Given the description of an element on the screen output the (x, y) to click on. 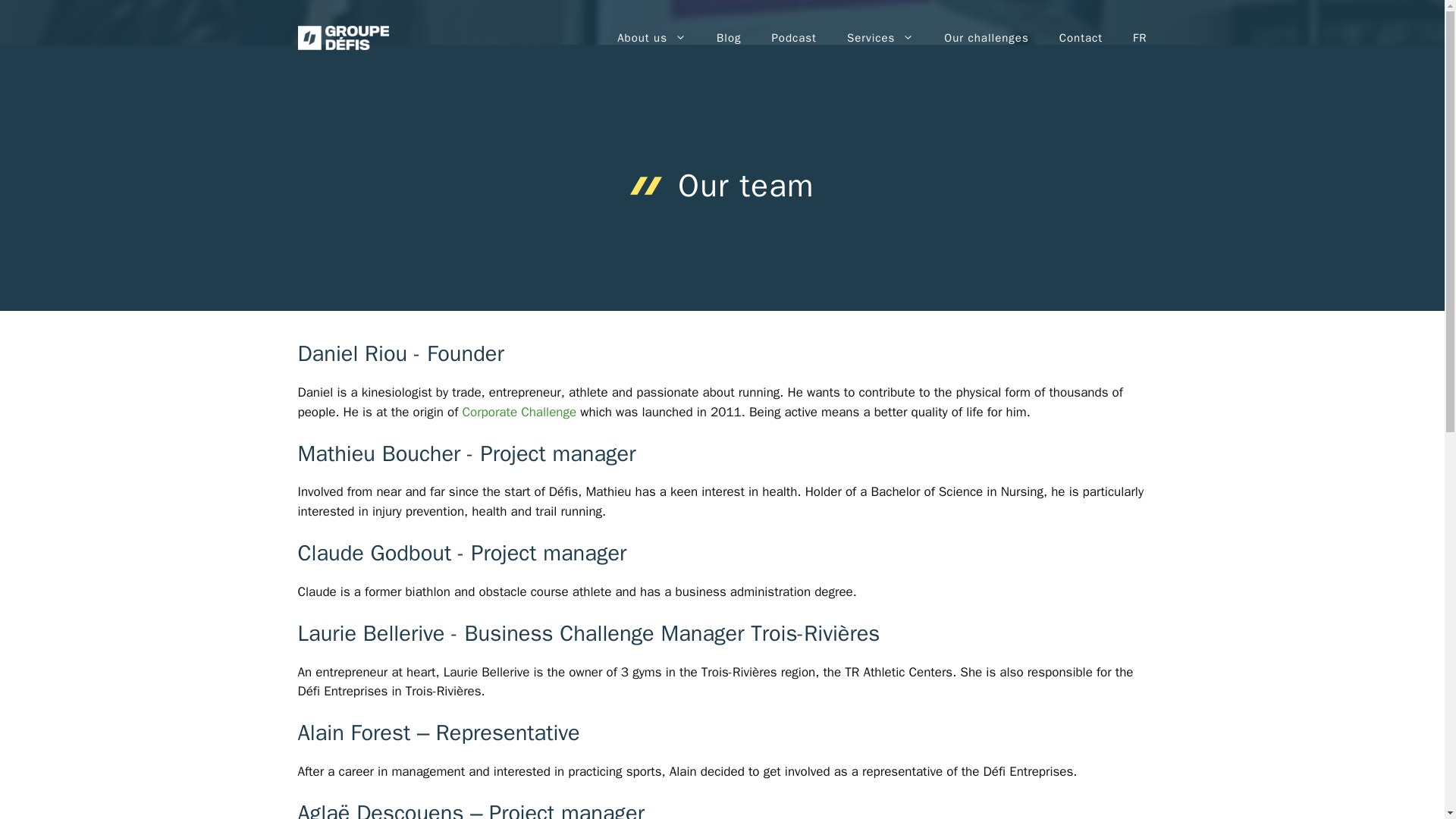
Our challenges (985, 37)
Podcast (793, 37)
Contact (1080, 37)
Corporate Challenge (518, 412)
Services (879, 37)
About us (651, 37)
Blog (728, 37)
